Given the description of an element on the screen output the (x, y) to click on. 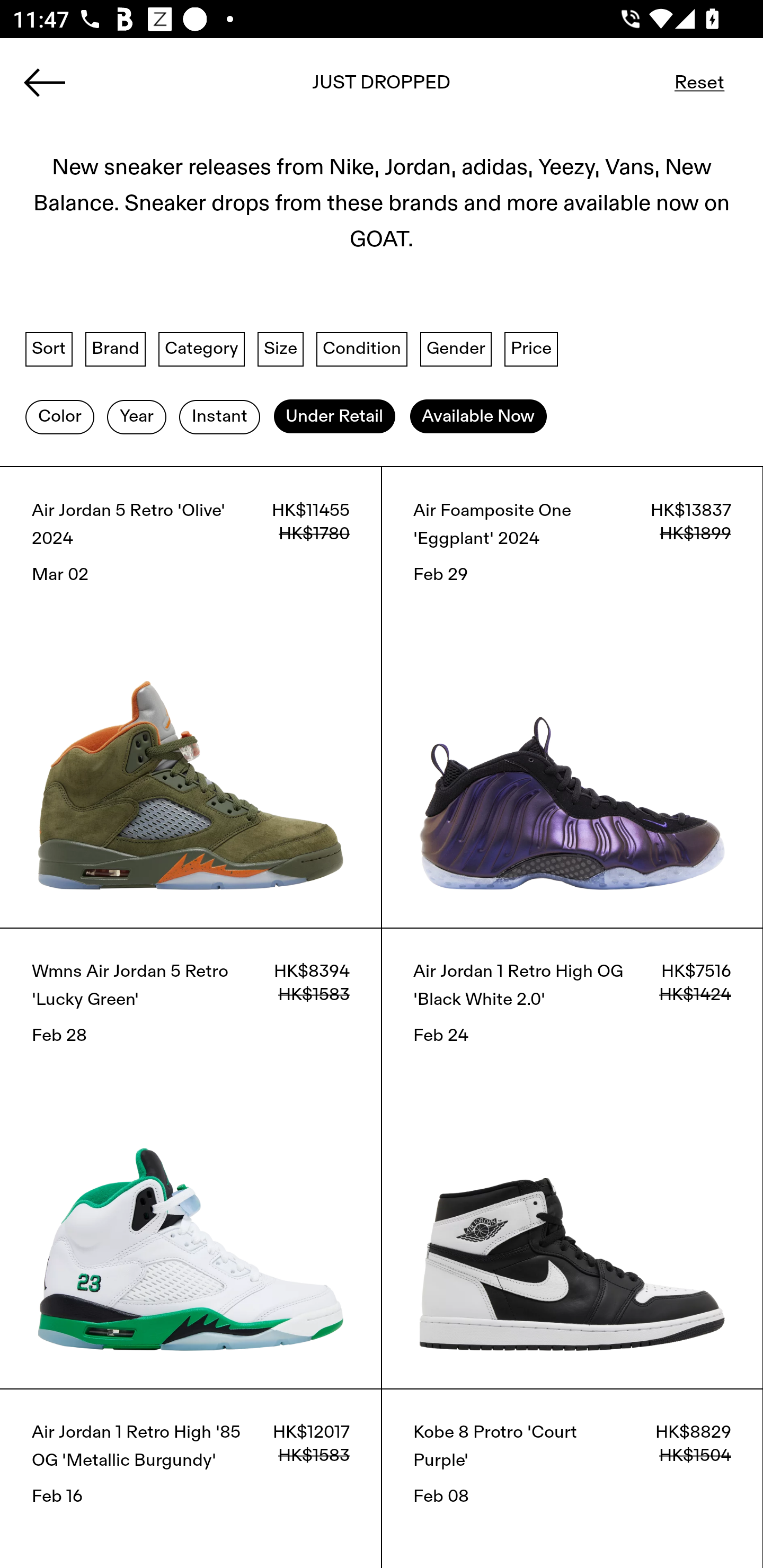
Want (710, 82)
soccer shoes (381, 88)
Sort (48, 348)
Brand (115, 348)
Category (201, 348)
Size (280, 348)
Condition (361, 348)
Gender (455, 348)
Price (530, 348)
Color (59, 416)
Year (136, 416)
Instant (219, 416)
Under Retail (334, 416)
Available Now (477, 416)
